Given the description of an element on the screen output the (x, y) to click on. 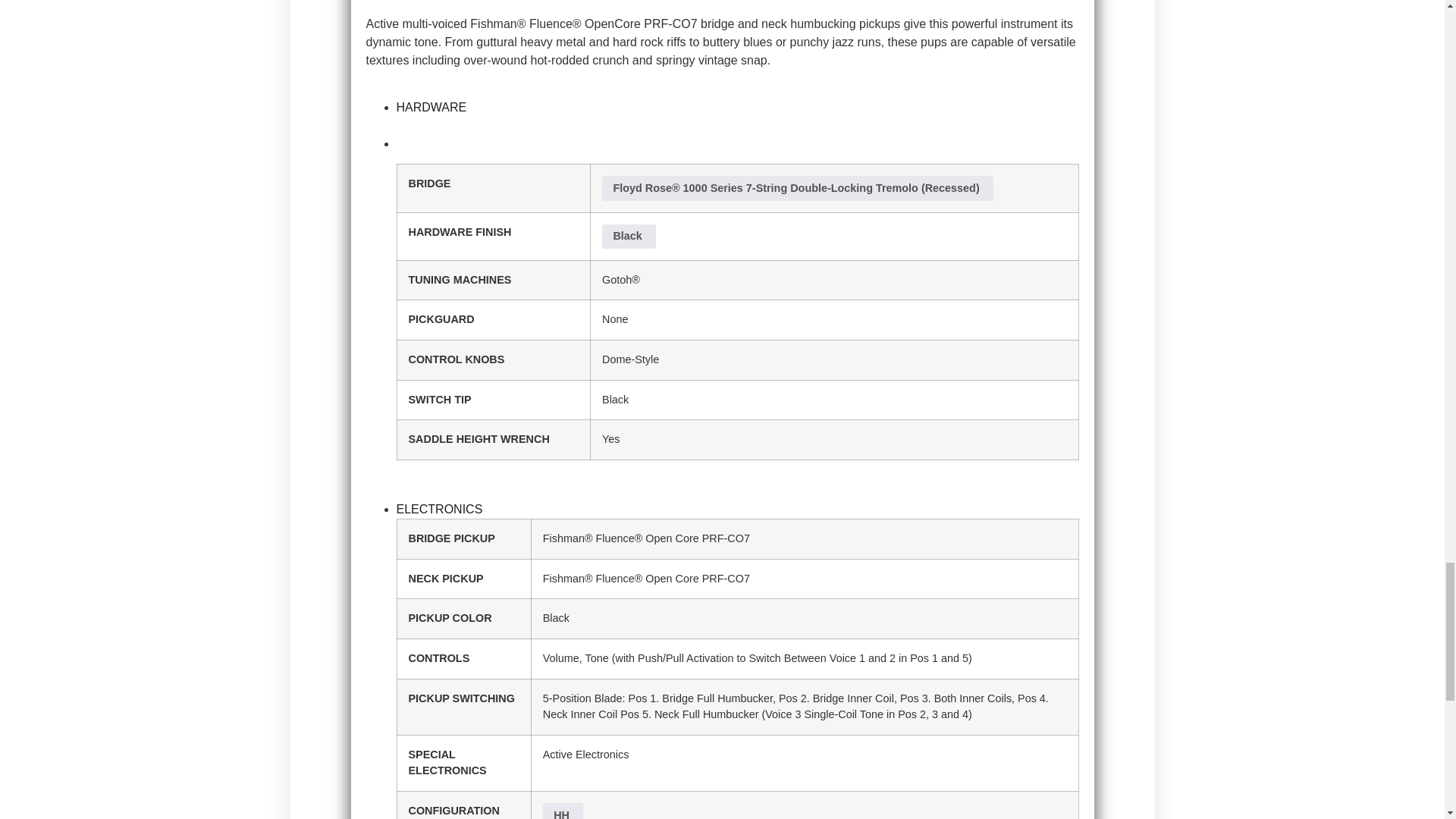
HH  (563, 811)
Black  (629, 236)
Search for other products with this spec (563, 811)
Search for other products with this spec (797, 187)
ELECTRONICS (438, 508)
HARDWARE (430, 106)
Search for other products with this spec (629, 236)
